Given the description of an element on the screen output the (x, y) to click on. 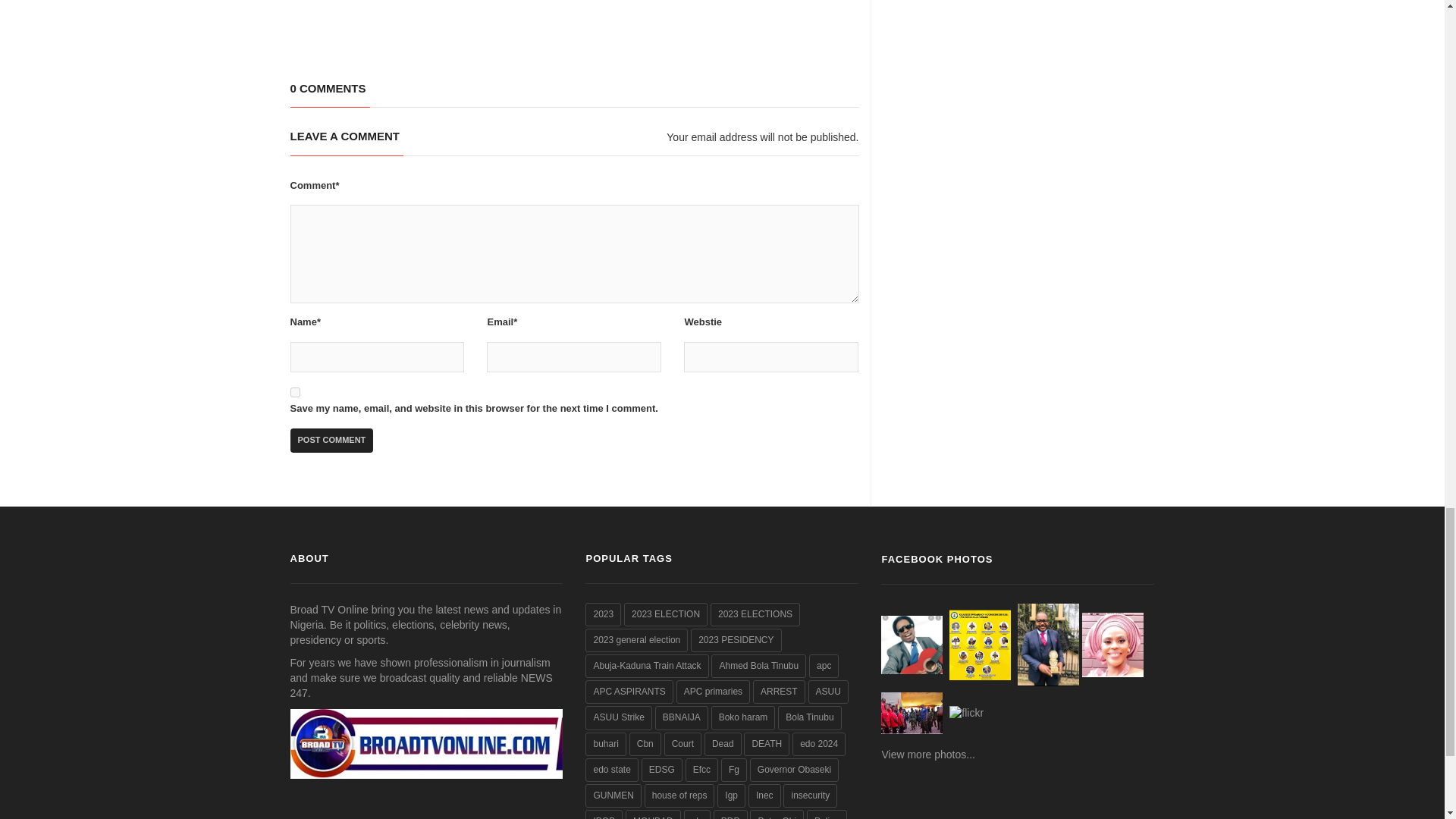
yes (294, 392)
Post Comment (330, 440)
